Given the description of an element on the screen output the (x, y) to click on. 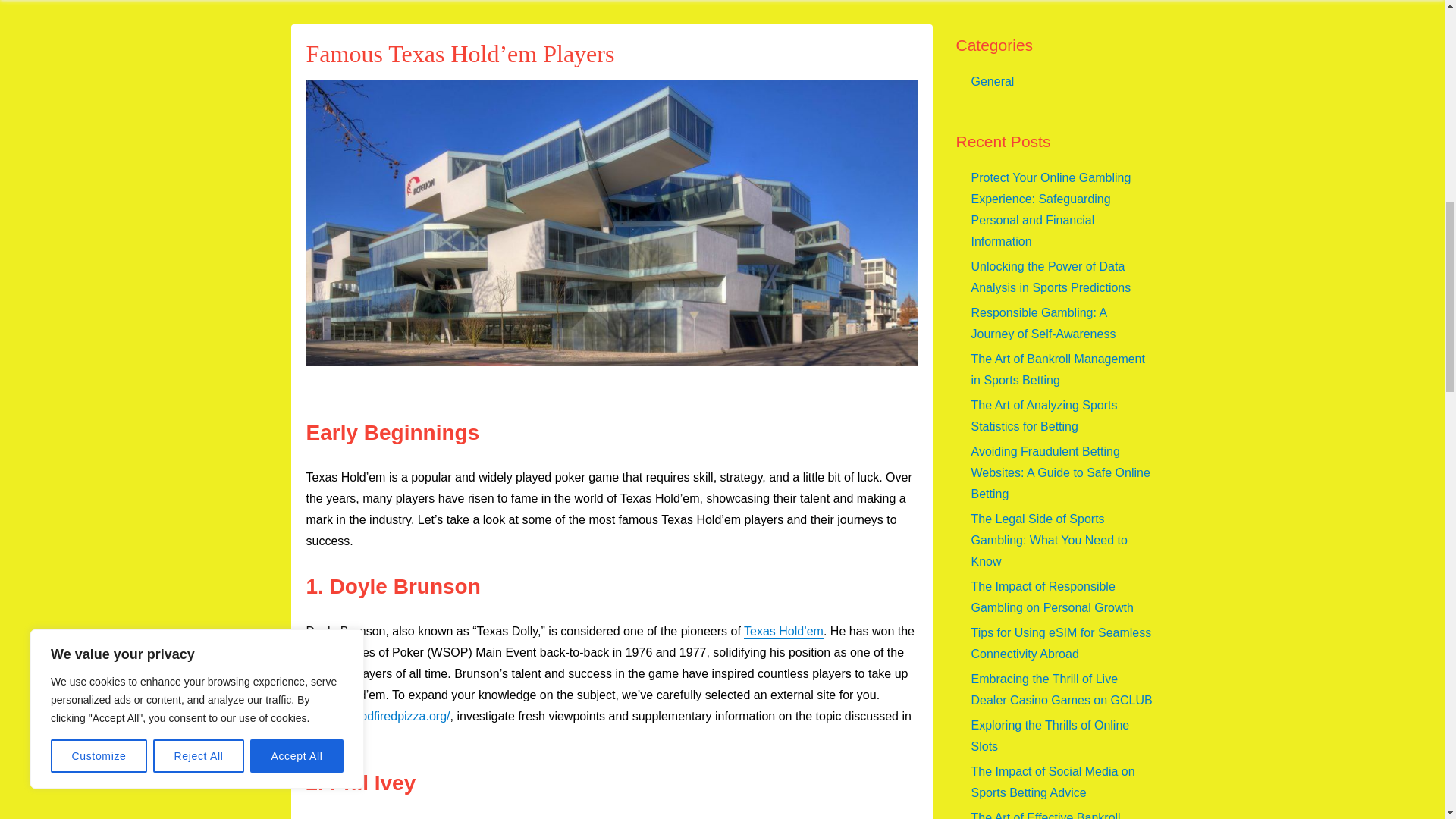
Unlocking the Power of Data Analysis in Sports Predictions (1051, 277)
General (992, 81)
The Art of Bankroll Management in Sports Betting (1057, 369)
The Art of Analyzing Sports Statistics for Betting (1043, 415)
Responsible Gambling: A Journey of Self-Awareness (1043, 323)
